Given the description of an element on the screen output the (x, y) to click on. 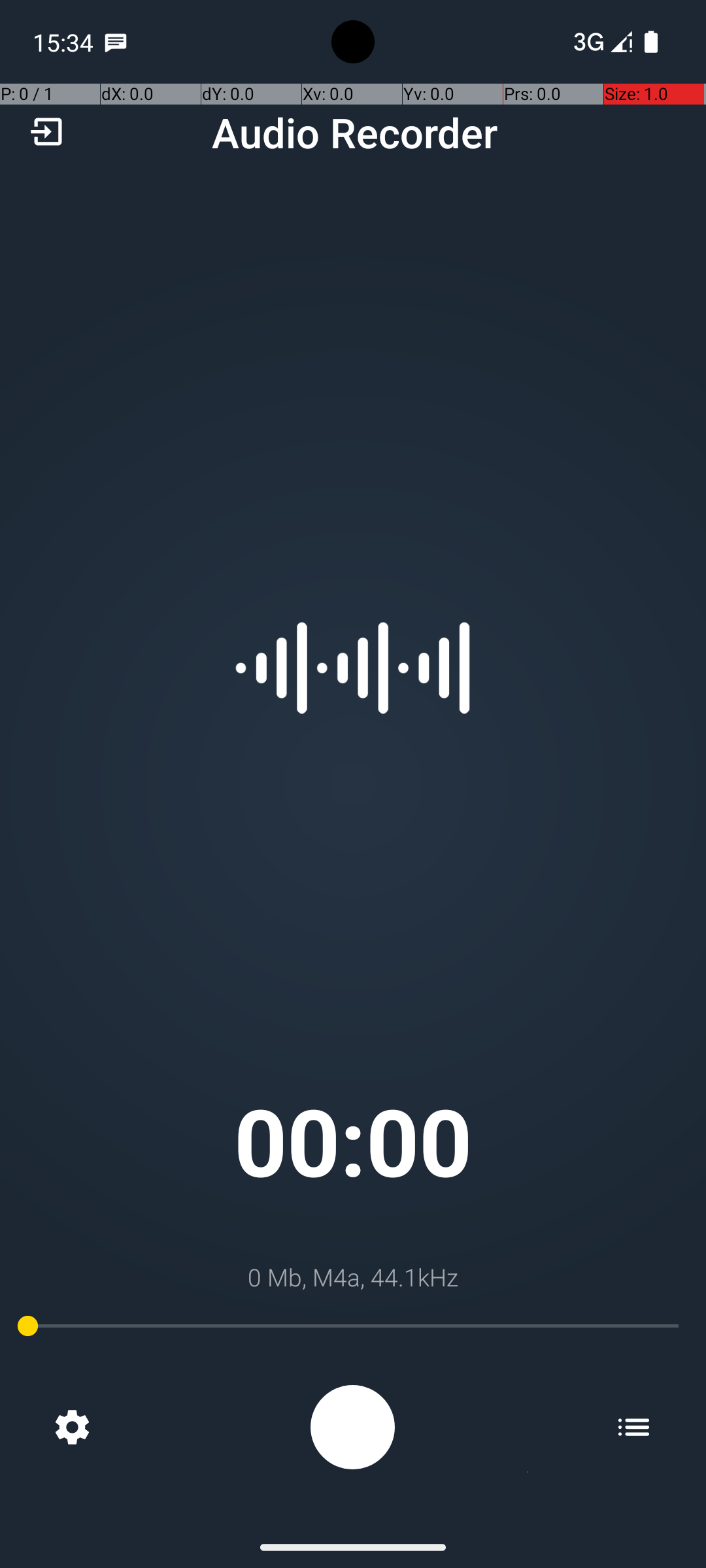
Audio Recorder Element type: android.widget.TextView (354, 132)
00:00 Element type: android.widget.TextView (352, 1140)
0 Mb, M4a, 44.1kHz Element type: android.widget.TextView (352, 1276)
Settings Element type: android.widget.ImageButton (72, 1427)
Recording: %s Element type: android.widget.ImageButton (352, 1427)
SMS Messenger notification: Petar Gonzalez Element type: android.widget.ImageView (115, 41)
Phone two bars. Element type: android.widget.FrameLayout (600, 41)
